Given the description of an element on the screen output the (x, y) to click on. 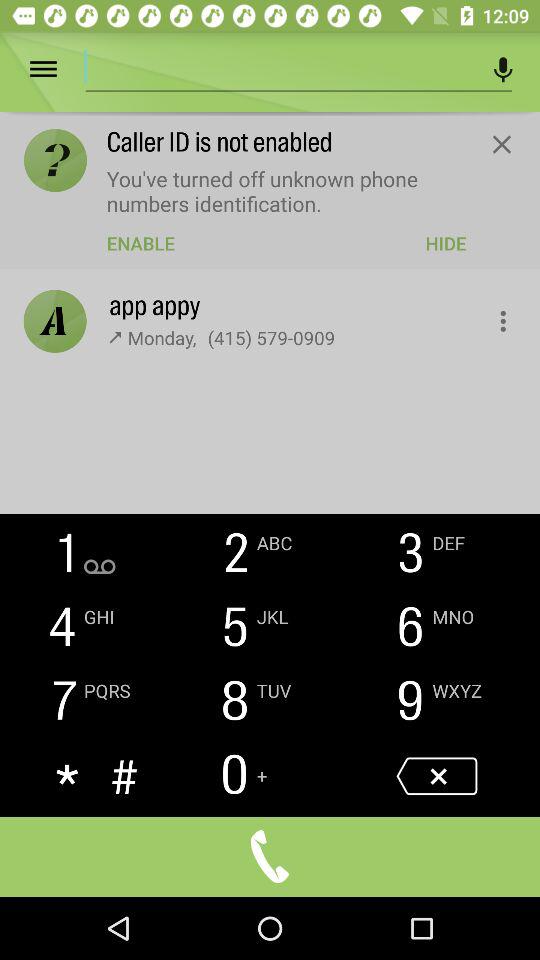
microphone button (503, 69)
